Given the description of an element on the screen output the (x, y) to click on. 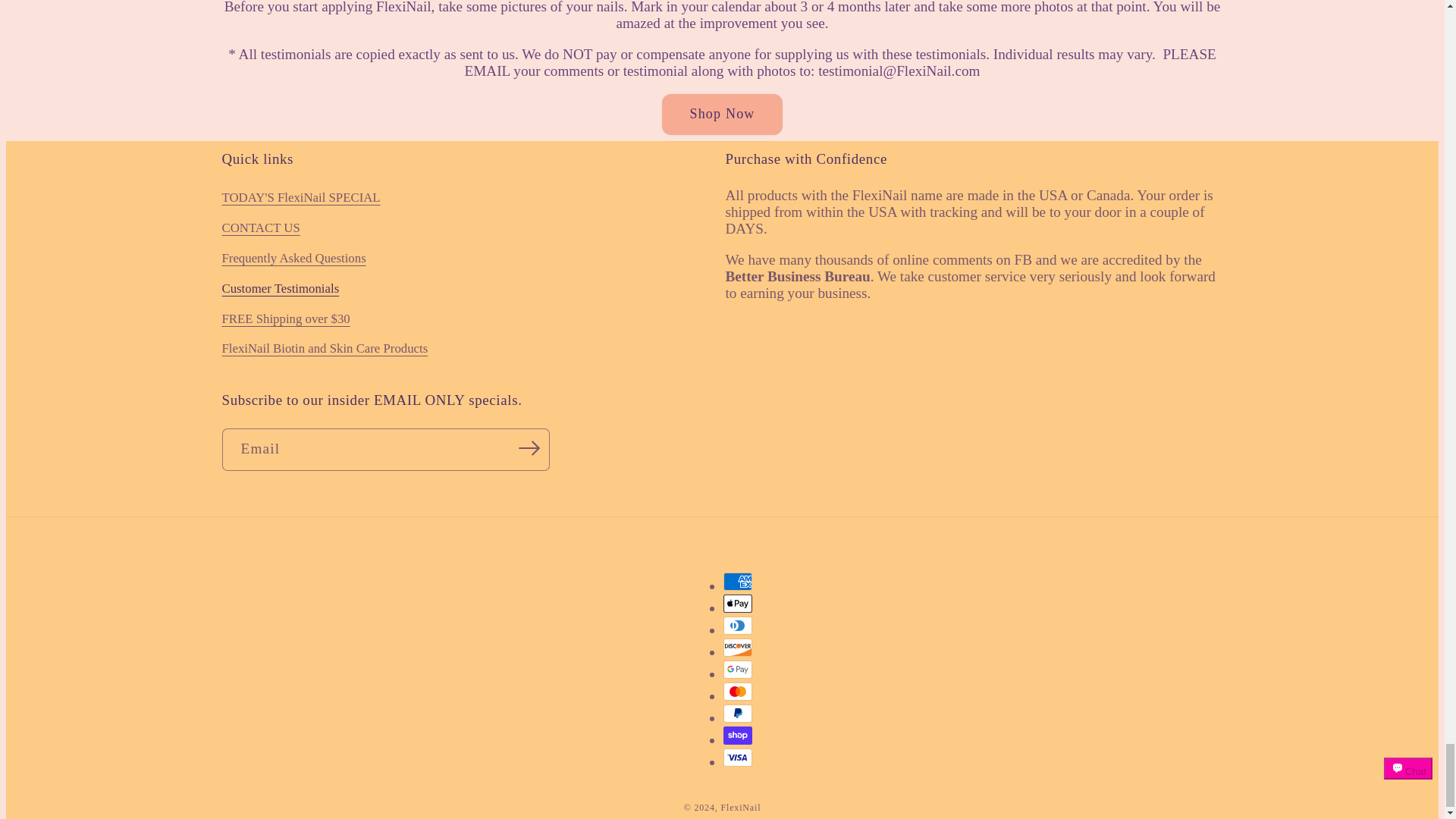
Mastercard (737, 691)
Google Pay (737, 669)
American Express (737, 581)
Discover (737, 647)
PayPal (737, 713)
Visa (737, 757)
Shop Pay (737, 735)
Apple Pay (737, 603)
Diners Club (737, 625)
